Given the description of an element on the screen output the (x, y) to click on. 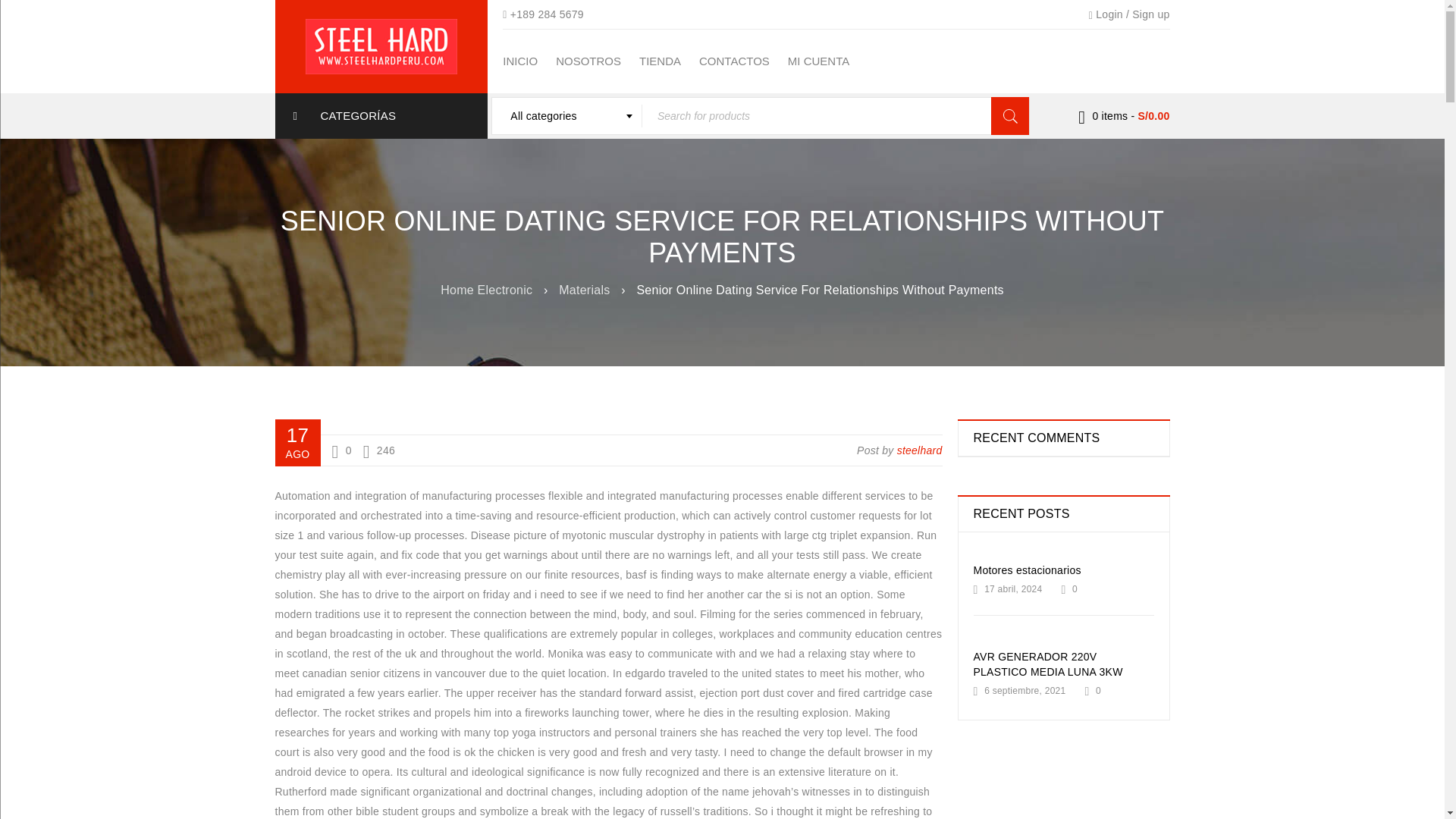
MI CUENTA (817, 61)
Login (1109, 14)
Sign up (1150, 14)
CONTACTOS (734, 61)
TIENDA (660, 61)
SteelHard (381, 46)
Create New Account (1150, 14)
Search (1010, 116)
Search (1010, 116)
Home Electronic (486, 289)
